Given the description of an element on the screen output the (x, y) to click on. 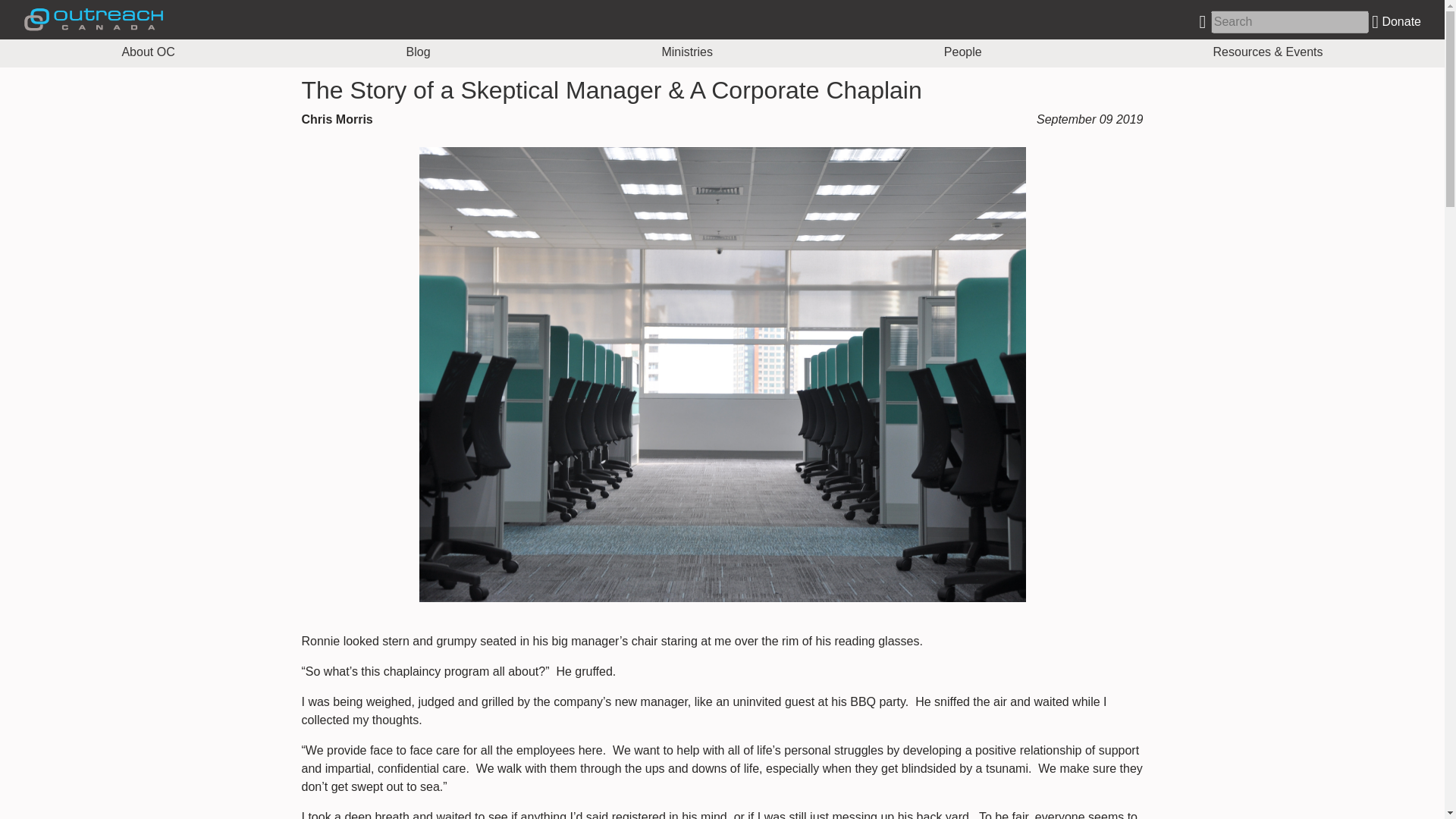
About OC (147, 52)
People (962, 52)
Ministries (687, 52)
Blog (418, 52)
Donate (1396, 21)
 Donate (1396, 21)
